Given the description of an element on the screen output the (x, y) to click on. 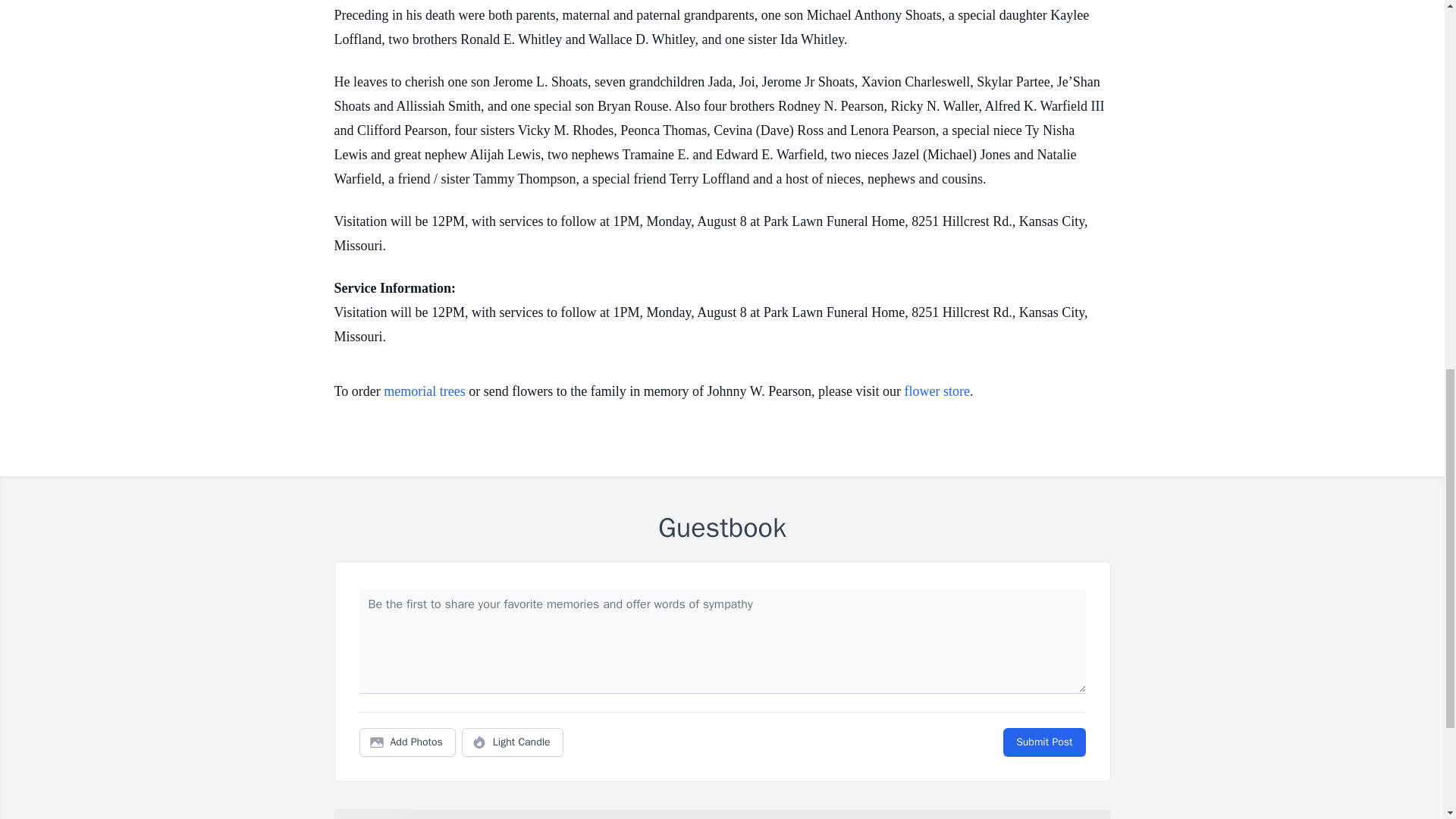
flower store (936, 391)
Add Photos (407, 742)
Submit Post (1043, 742)
memorial trees (424, 391)
Light Candle (512, 742)
